Given the description of an element on the screen output the (x, y) to click on. 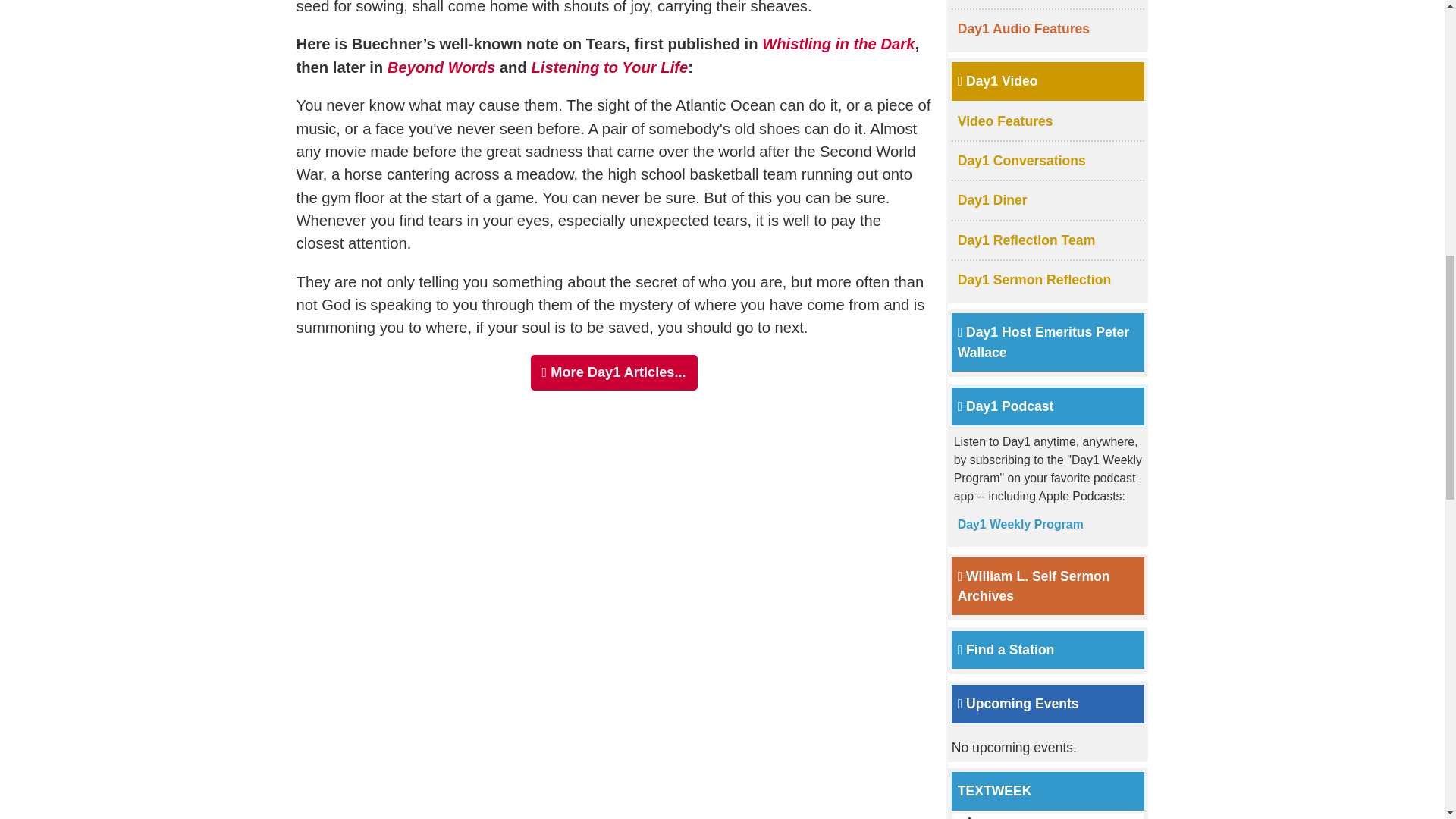
Listening to Your Life (609, 67)
Day1 Audio Features (1023, 28)
Day1 Conversations (1022, 160)
Day1 Video (998, 80)
Day1 Reflection Team (1027, 240)
Whistling in the Dark (837, 44)
More Day1 Articles... (614, 372)
Video Features (1005, 120)
Day1 Diner (992, 200)
Beyond Words (441, 67)
